Given the description of an element on the screen output the (x, y) to click on. 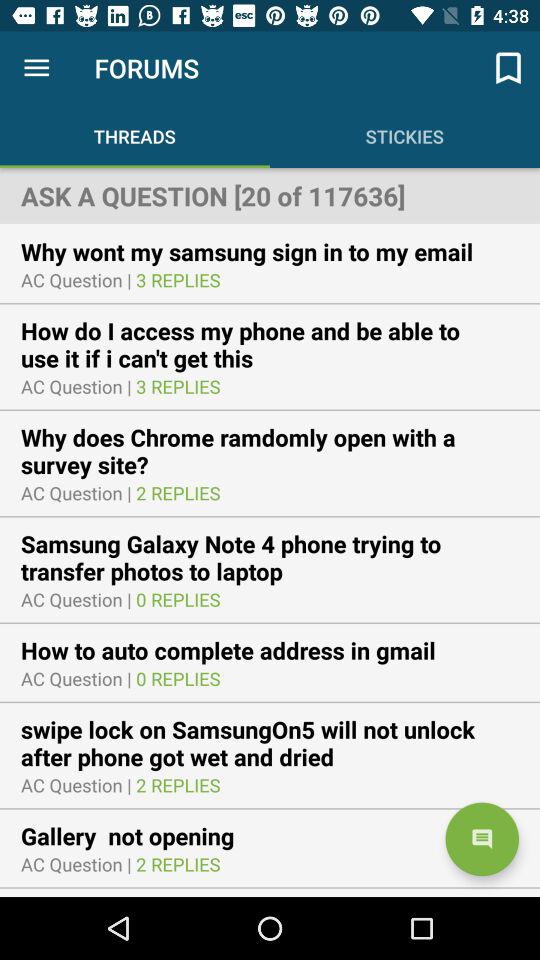
tap the icon below the swipe lock on icon (482, 839)
